Given the description of an element on the screen output the (x, y) to click on. 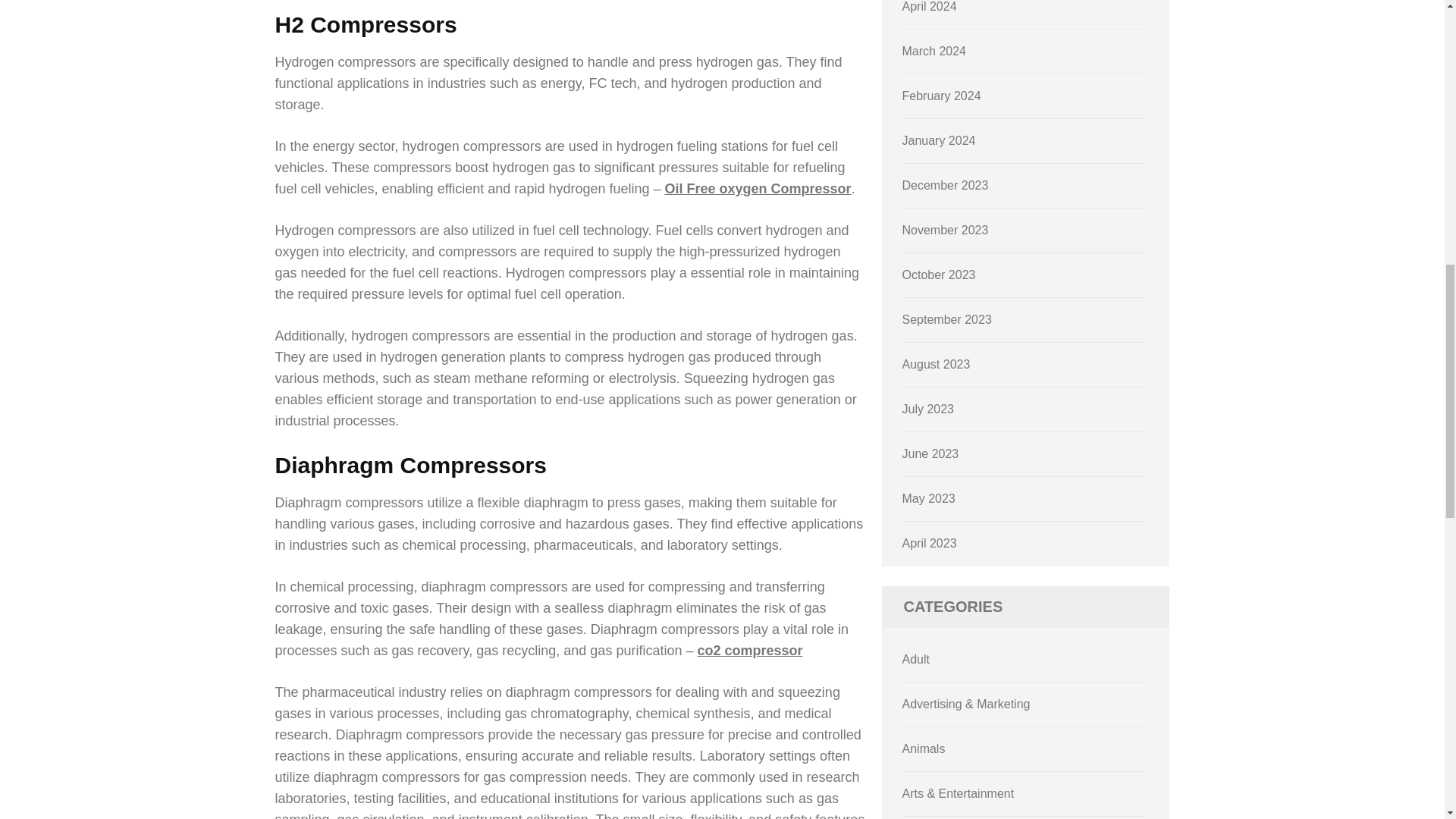
February 2024 (941, 97)
July 2023 (928, 410)
September 2023 (946, 321)
December 2023 (945, 187)
co2 compressor (749, 650)
Oil Free oxygen Compressor (758, 188)
November 2023 (945, 232)
May 2023 (928, 500)
June 2023 (930, 455)
January 2024 (938, 142)
April 2023 (929, 545)
April 2024 (929, 8)
August 2023 (936, 366)
October 2023 (938, 277)
March 2024 (934, 52)
